Given the description of an element on the screen output the (x, y) to click on. 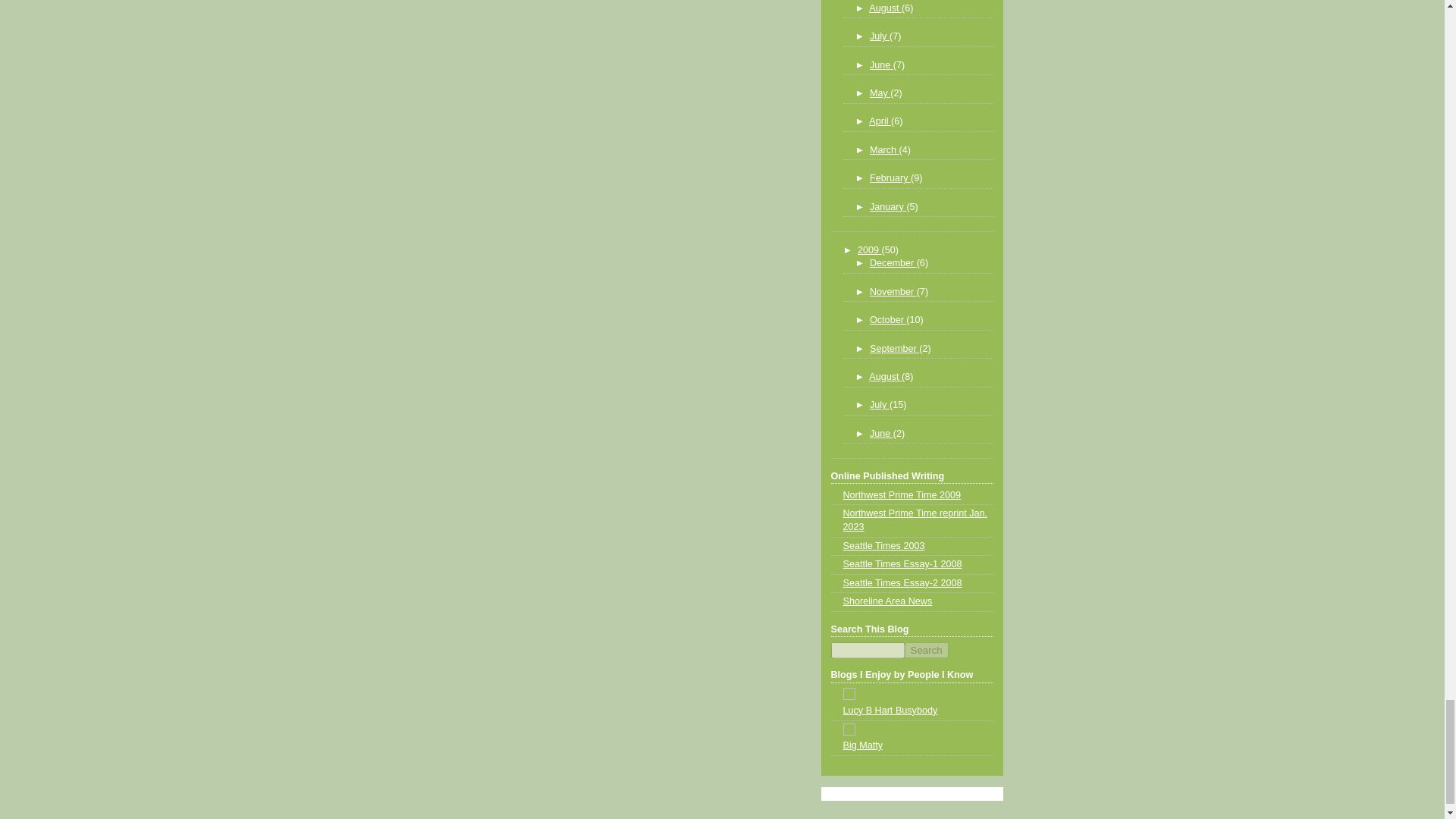
Search (925, 650)
Search (925, 650)
search (925, 650)
search (867, 650)
